Given the description of an element on the screen output the (x, y) to click on. 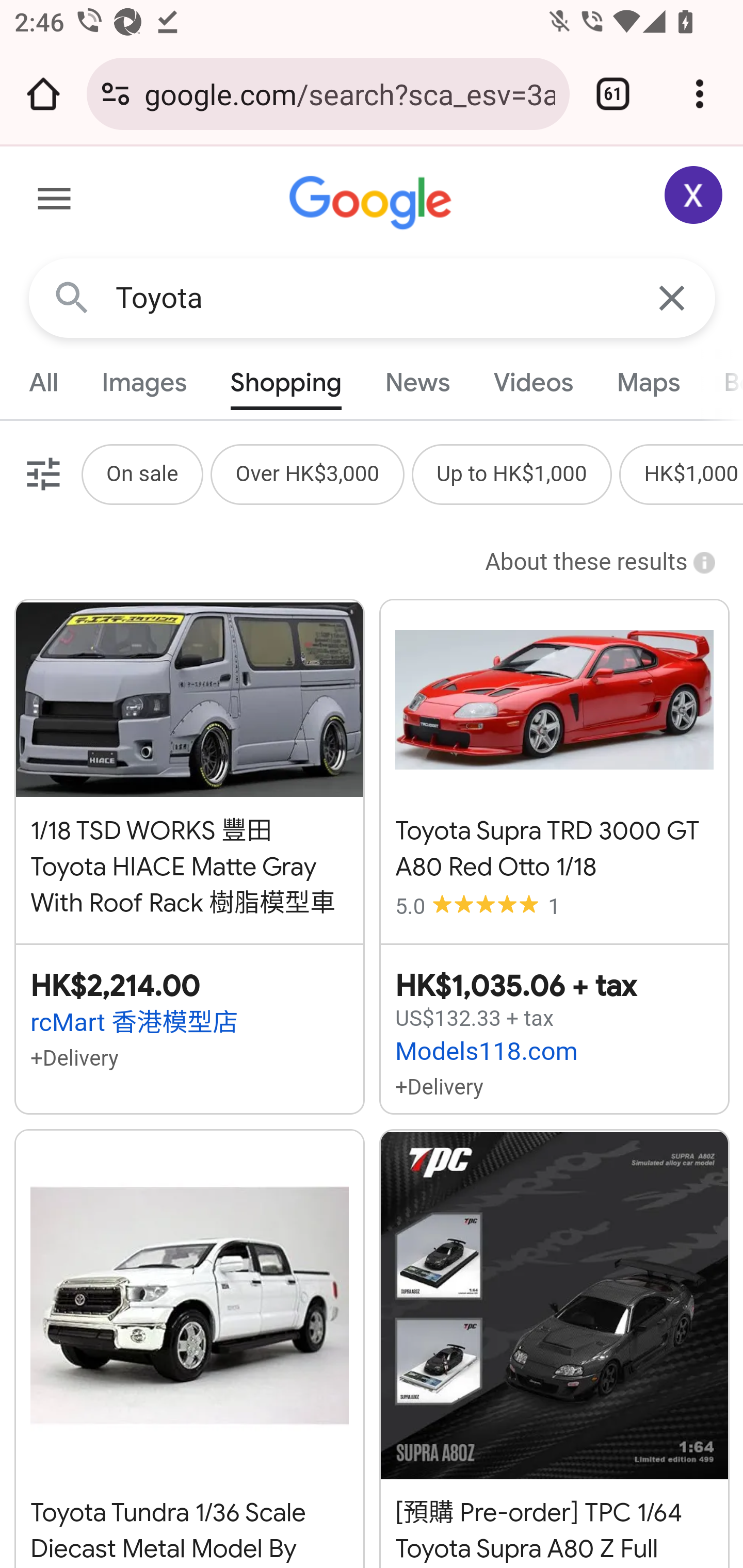
Open the home page (43, 93)
Connection is secure (115, 93)
Switch or close tabs (612, 93)
Customize and control Google Chrome (699, 93)
Main menu (54, 202)
Google (372, 203)
Google Account: Xiaoran (zxrappiumtest@gmail.com) (694, 195)
Google Search (71, 296)
Clear Search (672, 296)
Toyota (372, 297)
All (43, 382)
Images (144, 382)
News (417, 382)
Videos (533, 382)
Maps (647, 382)
Filters.0 filters applied. (41, 473)
On sale (141, 473)
Over HK$3,000 (307, 473)
Up to HK$1,000 (511, 473)
HK$1,000 – HK$3,000 (692, 473)
